Given the description of an element on the screen output the (x, y) to click on. 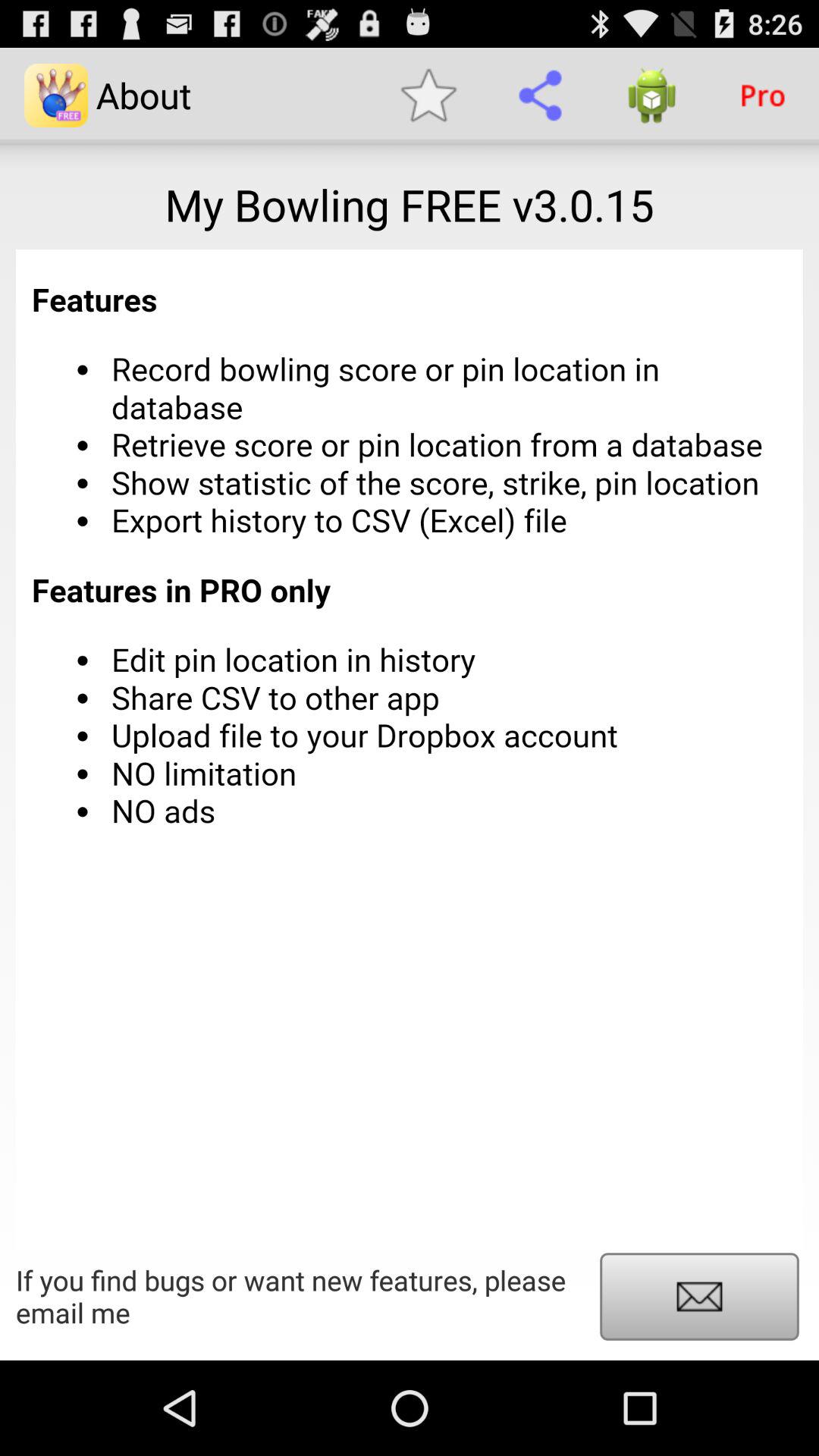
message box (699, 1296)
